Given the description of an element on the screen output the (x, y) to click on. 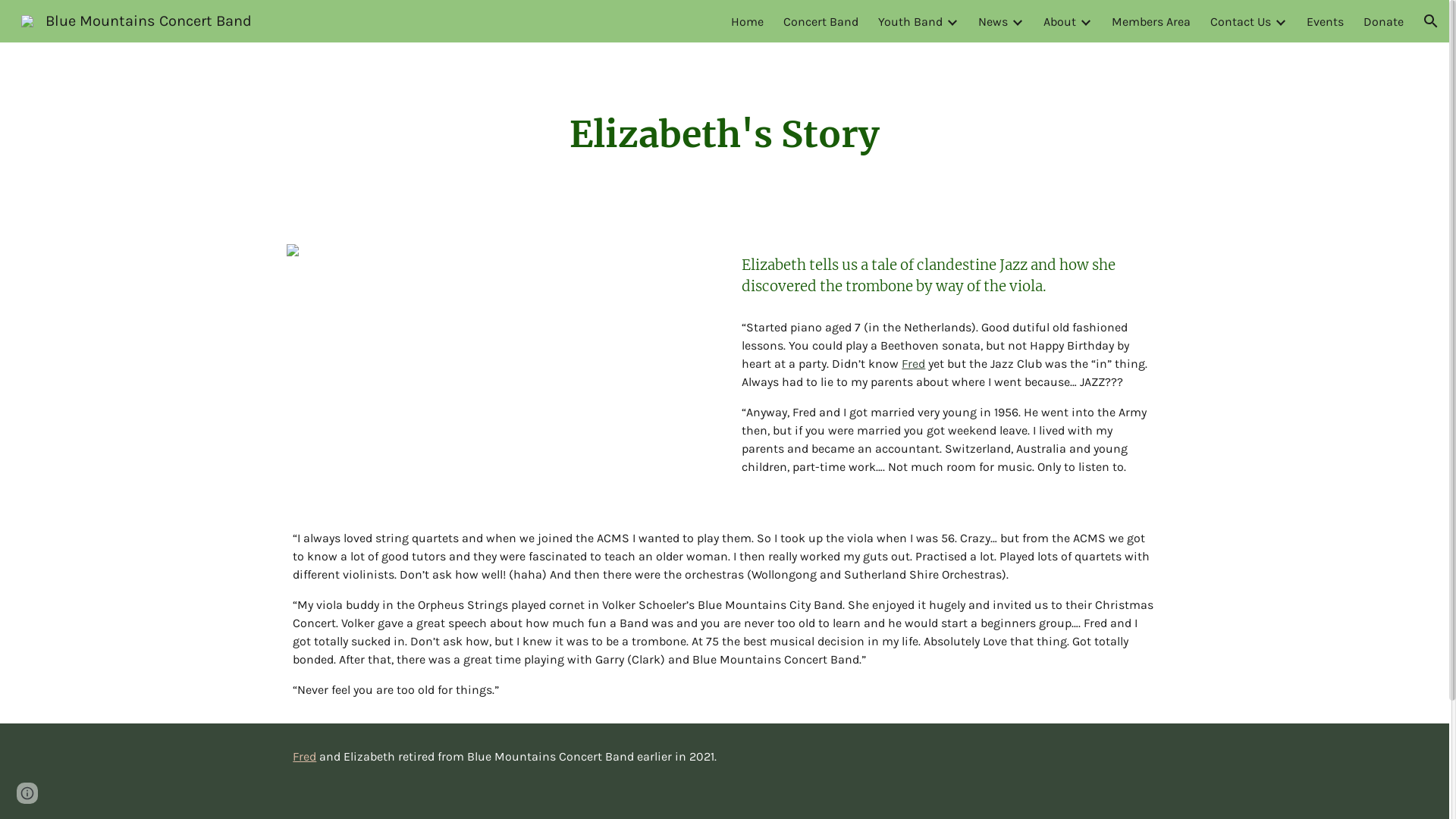
Youth Band Element type: text (910, 20)
Donate Element type: text (1383, 20)
Expand/Collapse Element type: hover (1016, 20)
Expand/Collapse Element type: hover (951, 20)
About Element type: text (1059, 20)
Expand/Collapse Element type: hover (1085, 20)
News Element type: text (992, 20)
Blue Mountains Concert Band Element type: text (136, 19)
Expand/Collapse Element type: hover (1279, 20)
Events Element type: text (1324, 20)
Concert Band Element type: text (820, 20)
Home Element type: text (747, 20)
Fred Element type: text (304, 756)
Fred Element type: text (913, 363)
Contact Us Element type: text (1240, 20)
Members Area Element type: text (1150, 20)
